Given the description of an element on the screen output the (x, y) to click on. 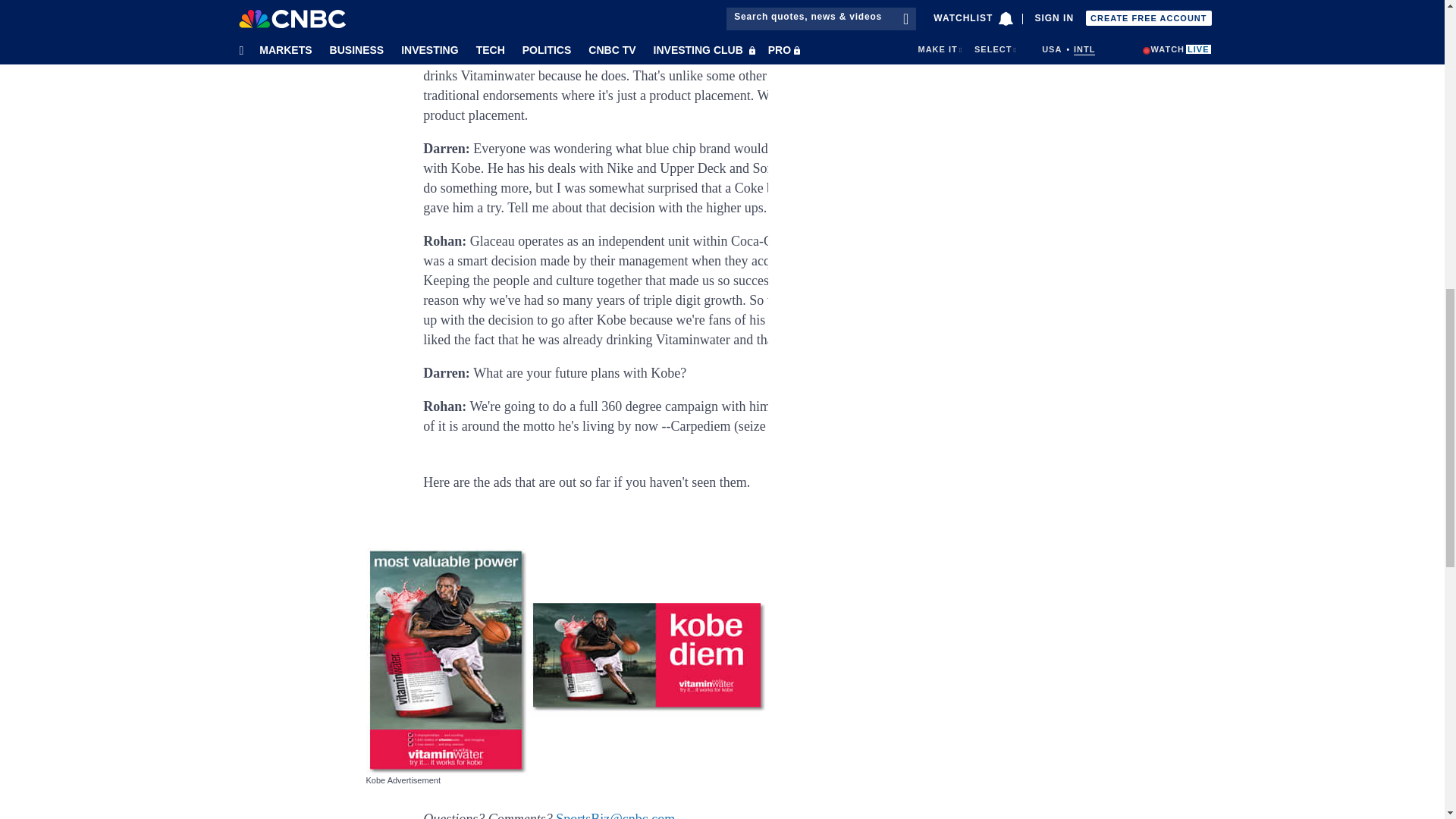
3rd party ad content (945, 64)
